Given the description of an element on the screen output the (x, y) to click on. 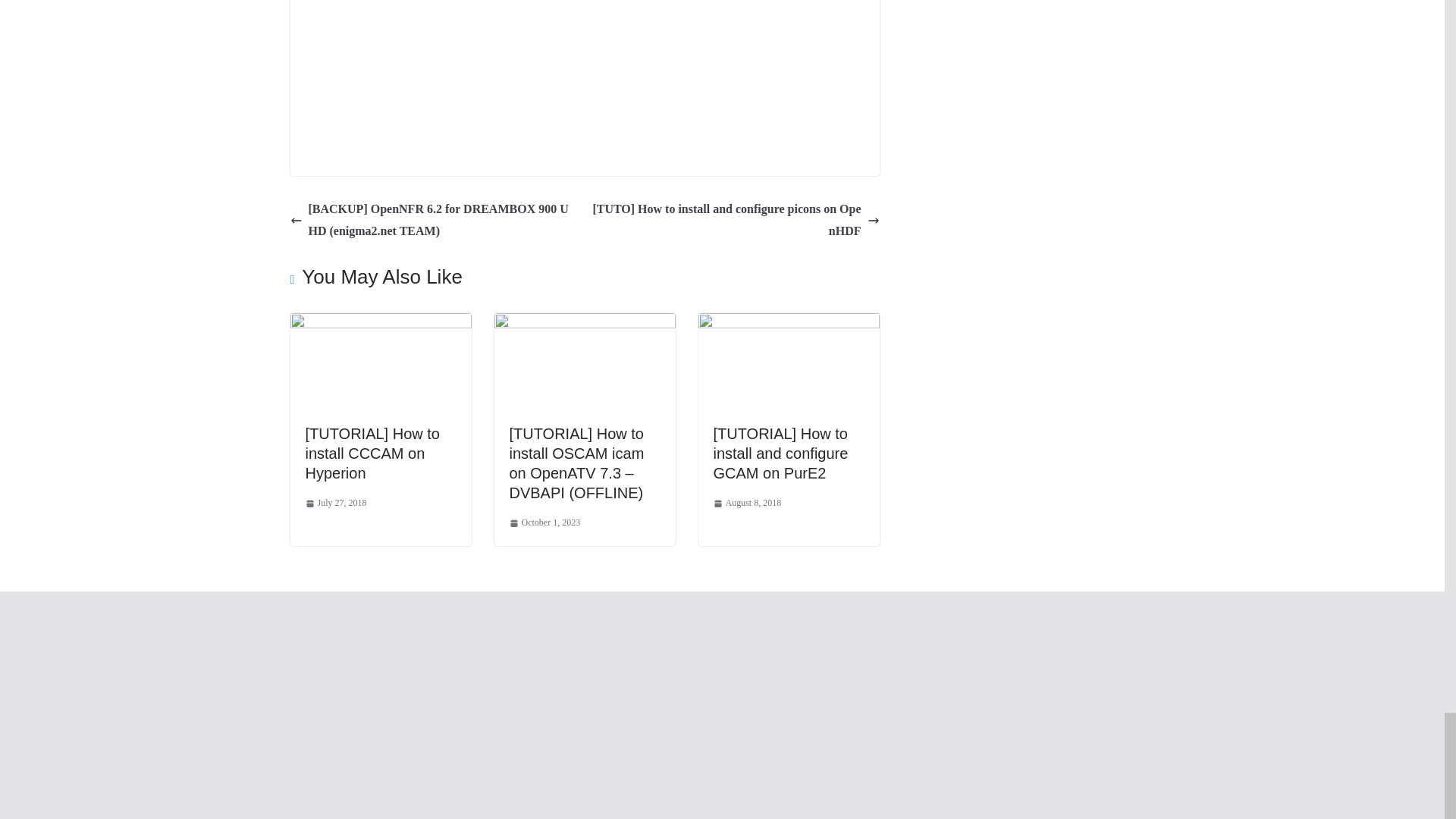
9:21 pm (335, 503)
7:12 pm (544, 523)
How to setup Wireless on OpenHDF (583, 77)
